Given the description of an element on the screen output the (x, y) to click on. 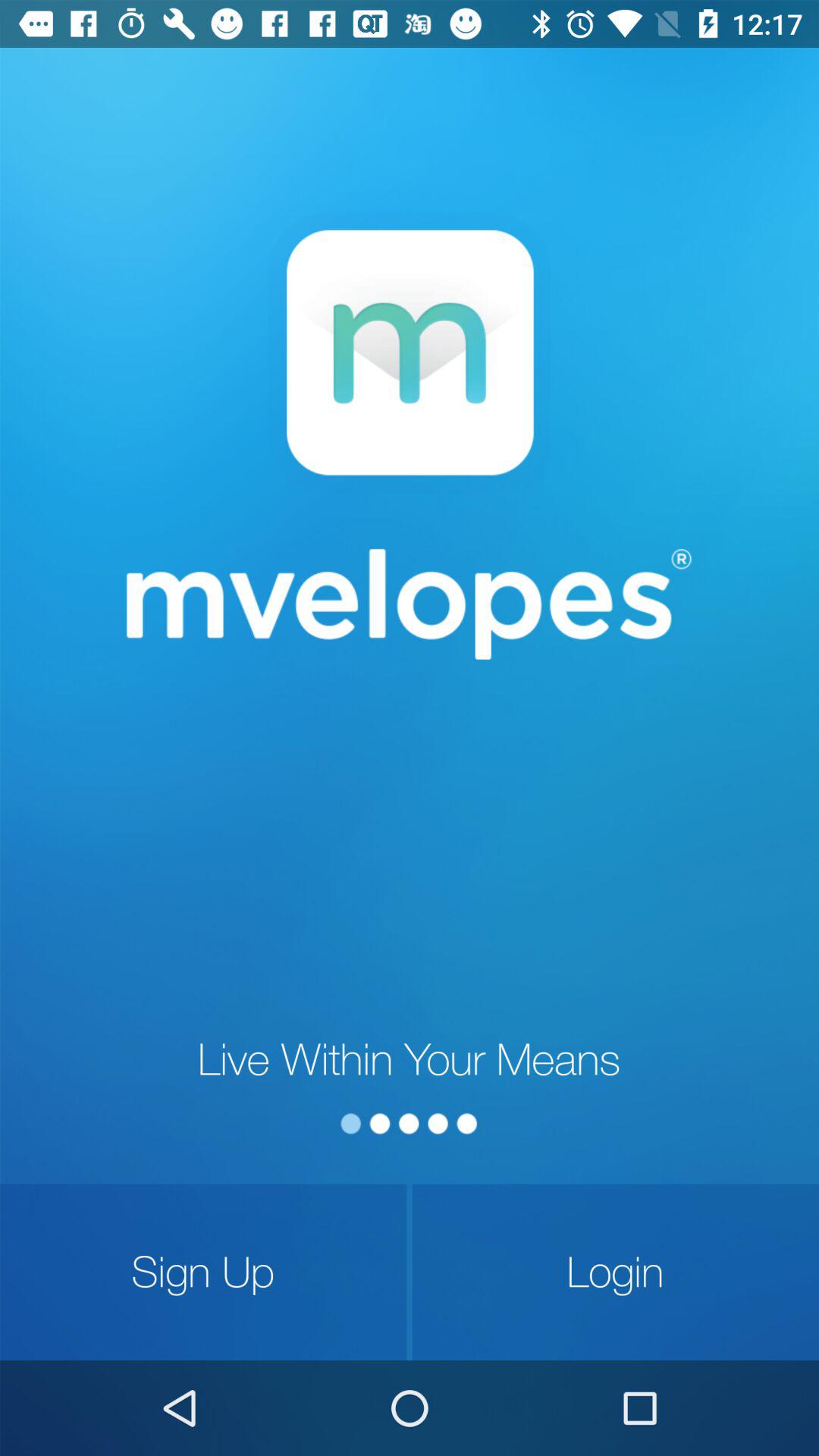
choose icon at the bottom right corner (615, 1272)
